Given the description of an element on the screen output the (x, y) to click on. 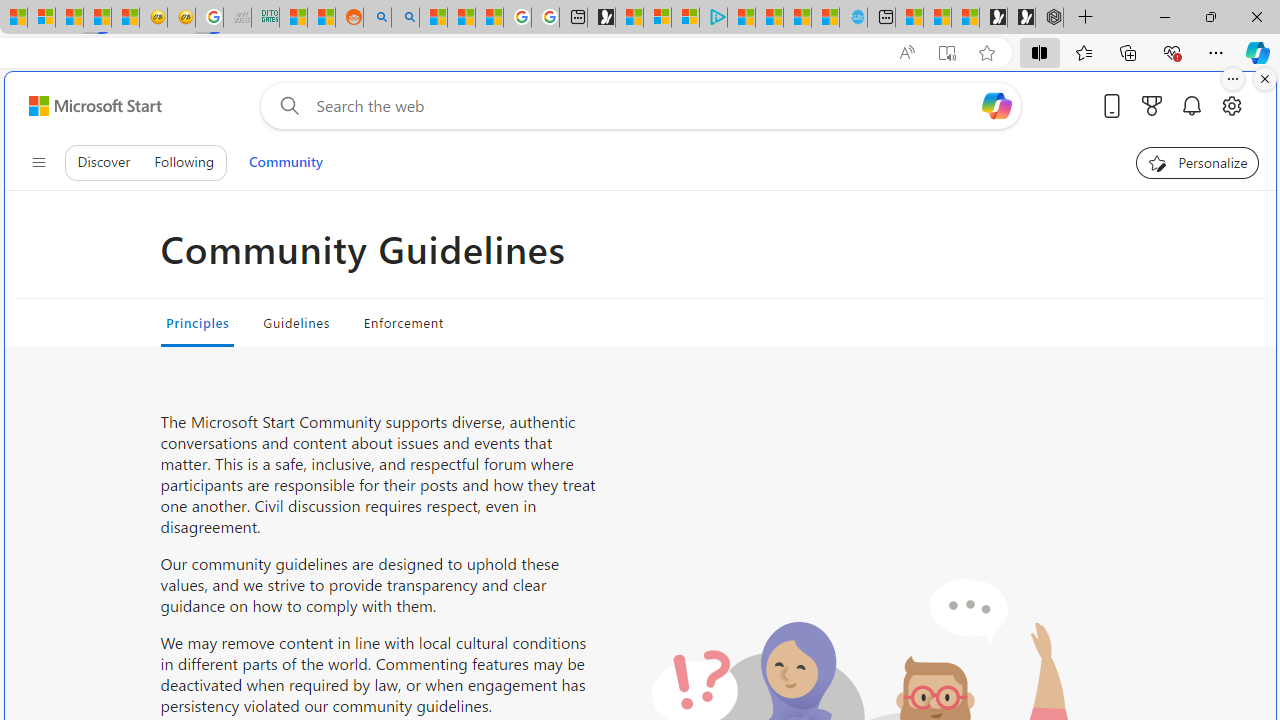
Class: control icon-only (38, 162)
Principles (197, 322)
Personalize your feed" (1197, 162)
Enter Immersive Reader (F9) (946, 53)
Guidelines (296, 322)
Navy Quest (237, 17)
